Given the description of an element on the screen output the (x, y) to click on. 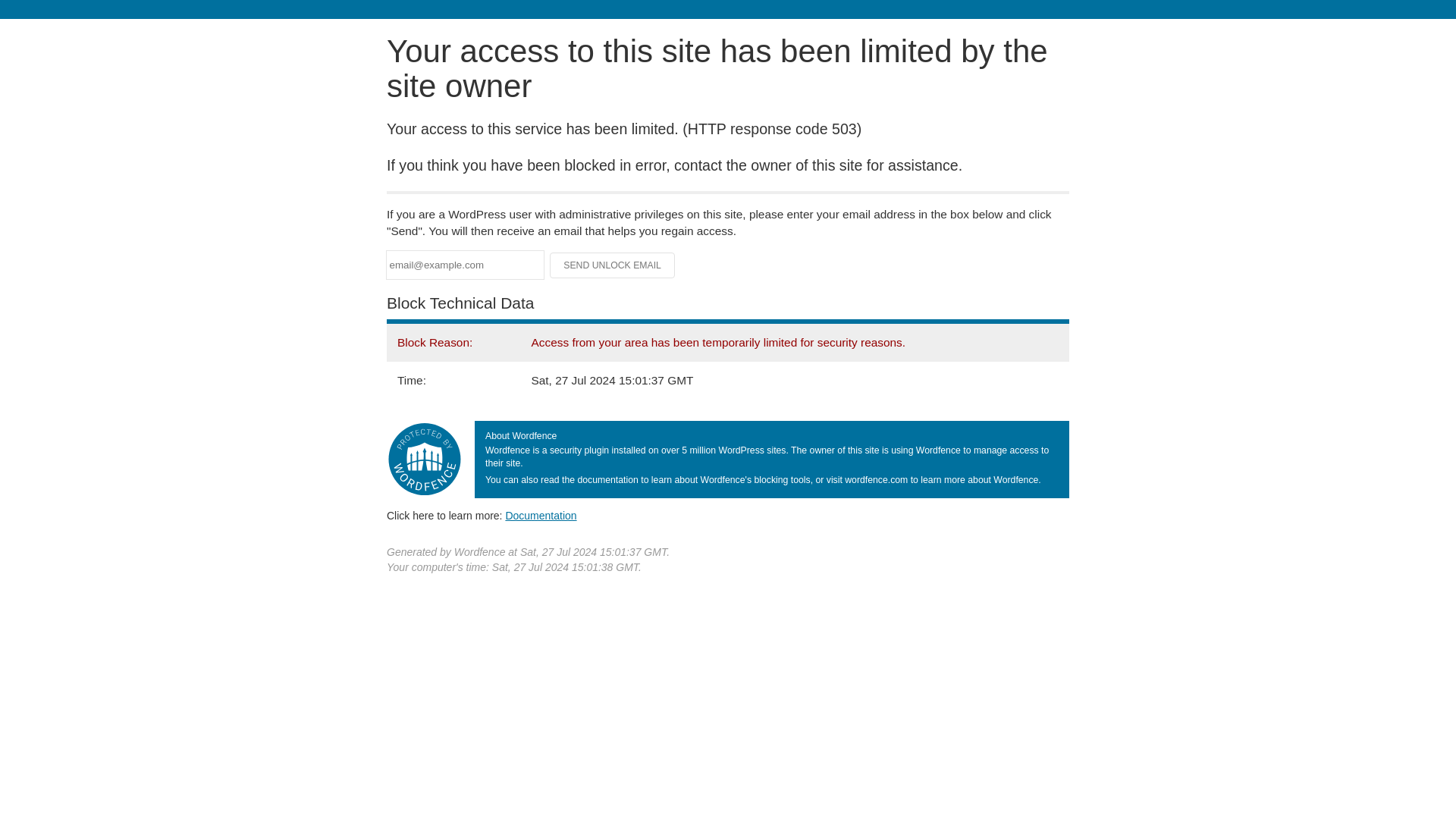
Documentation (540, 515)
Send Unlock Email (612, 265)
Send Unlock Email (612, 265)
